Given the description of an element on the screen output the (x, y) to click on. 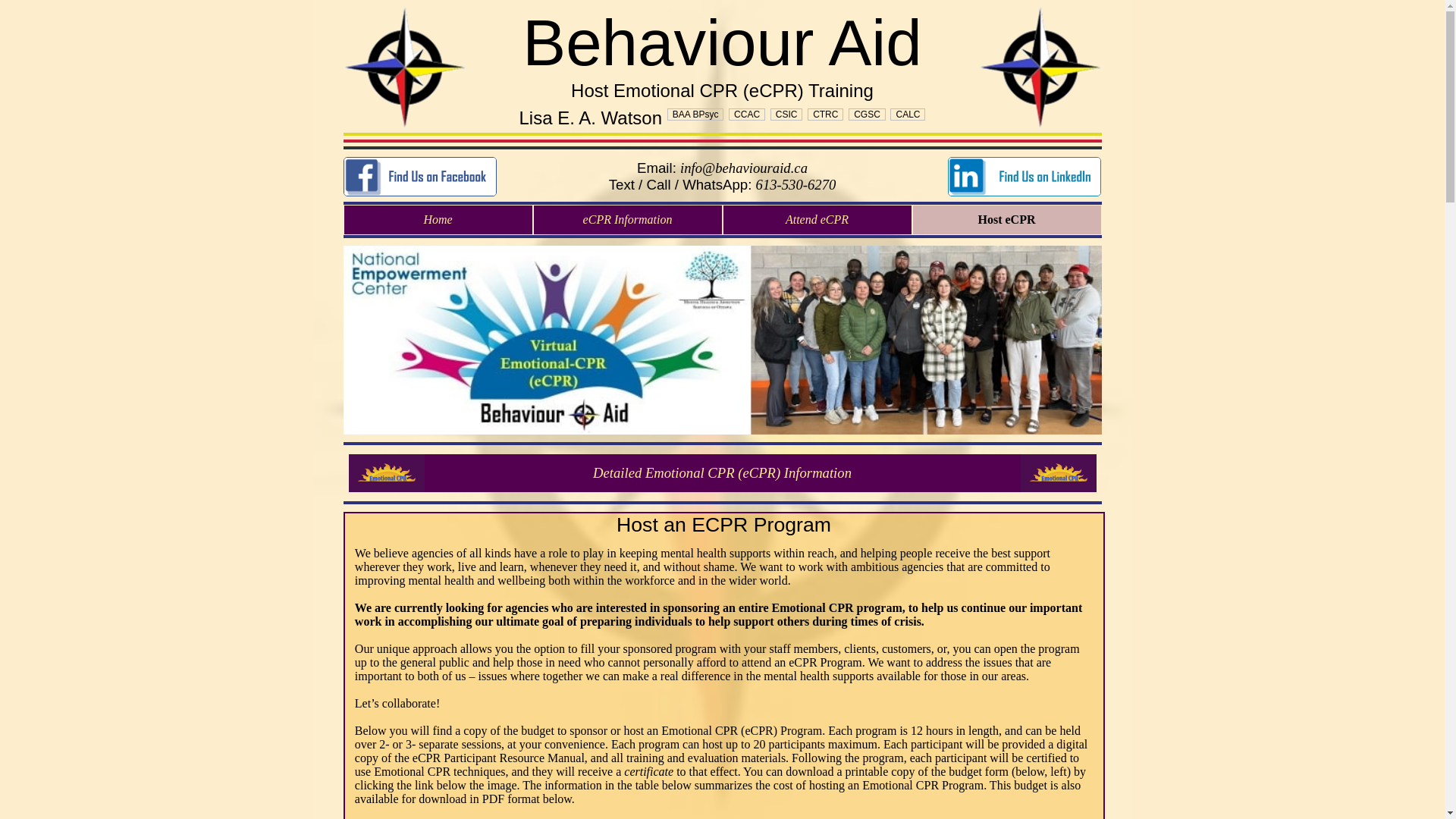
Find Us on Facebook Element type: hover (418, 176)
BAA BPsyc Element type: text (695, 114)
eCPR Information Element type: text (627, 219)
CSIC Element type: text (786, 114)
CALC Element type: text (907, 114)
Home Element type: text (438, 219)
info@behaviouraid.ca Element type: text (743, 167)
eCPR Information Element type: hover (1058, 473)
CCAC Element type: text (746, 114)
CTRC Element type: text (825, 114)
eCPR Information Element type: hover (386, 473)
certificate Element type: text (648, 771)
CGSC Element type: text (866, 114)
Host eCPR Zoom Element type: hover (721, 339)
Detailed Emotional CPR (eCPR) Information Element type: text (722, 472)
Find Us on LinkedIn Element type: hover (1024, 176)
Attend eCPR Element type: text (817, 219)
613-530-6270 Element type: text (796, 184)
